Given the description of an element on the screen output the (x, y) to click on. 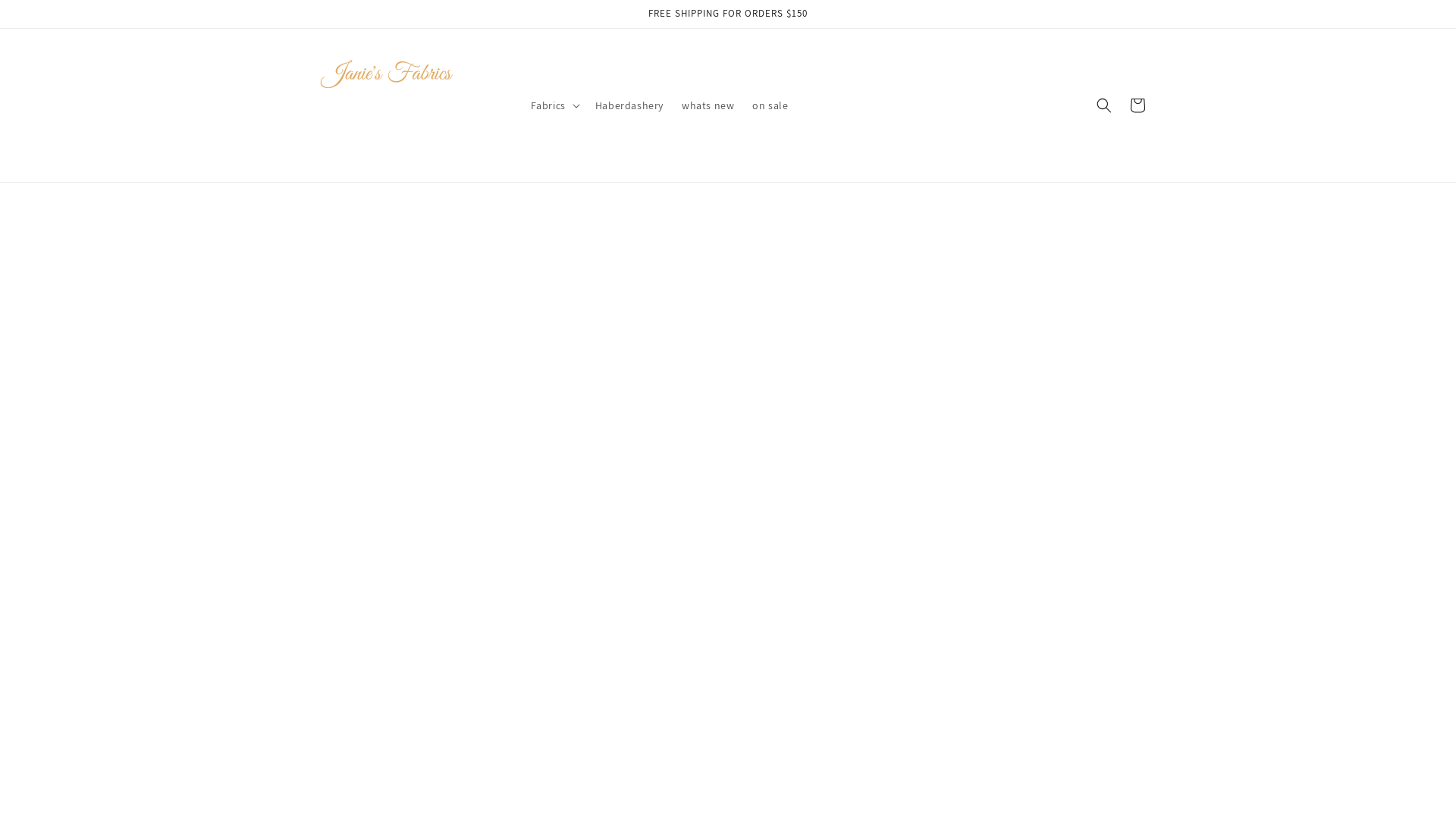
whats new Element type: text (707, 105)
on sale Element type: text (770, 105)
Cart Element type: text (1137, 105)
Haberdashery Element type: text (629, 105)
